Given the description of an element on the screen output the (x, y) to click on. 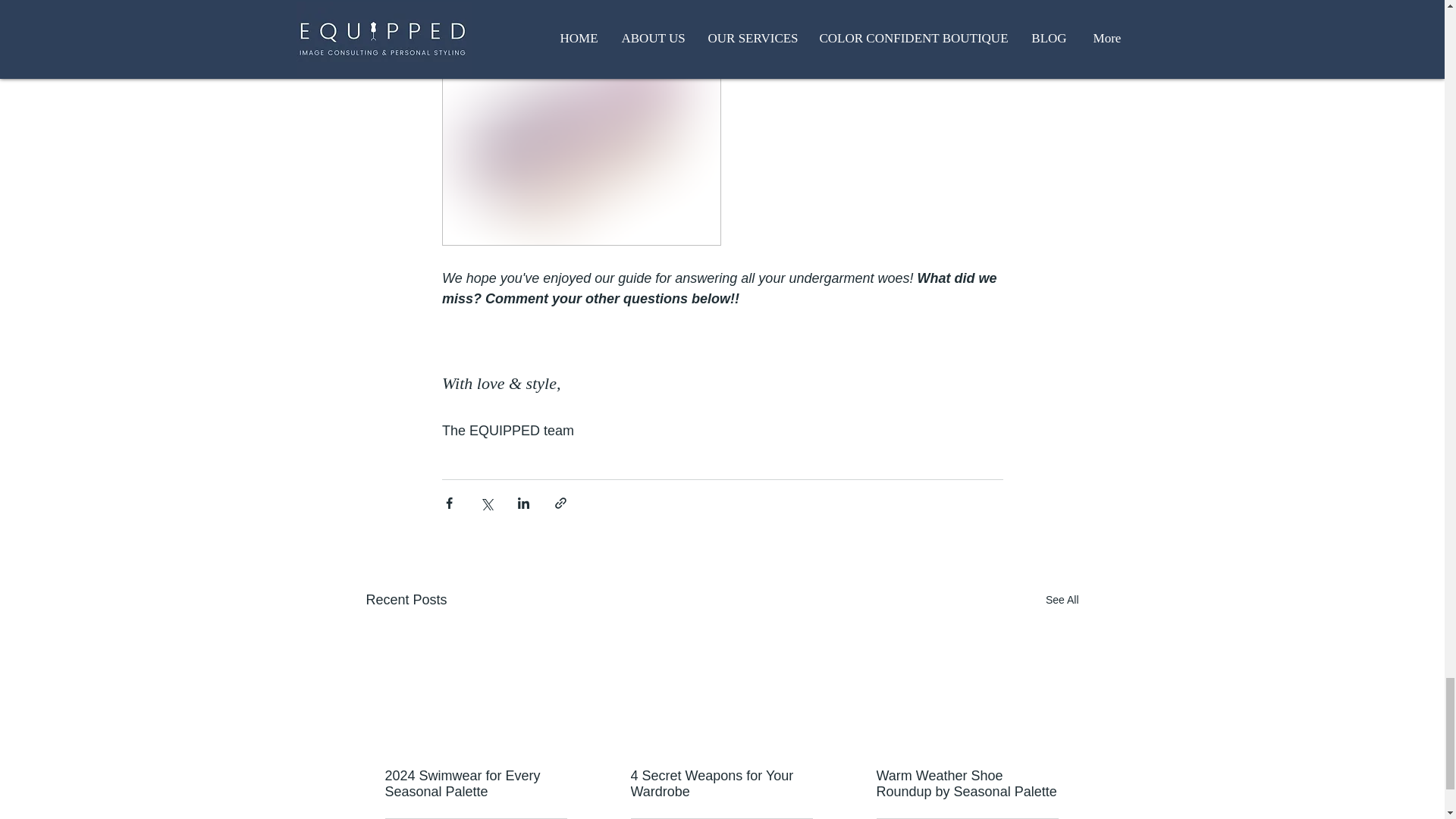
See All (1061, 599)
2024 Swimwear for Every Seasonal Palette (476, 784)
